Given the description of an element on the screen output the (x, y) to click on. 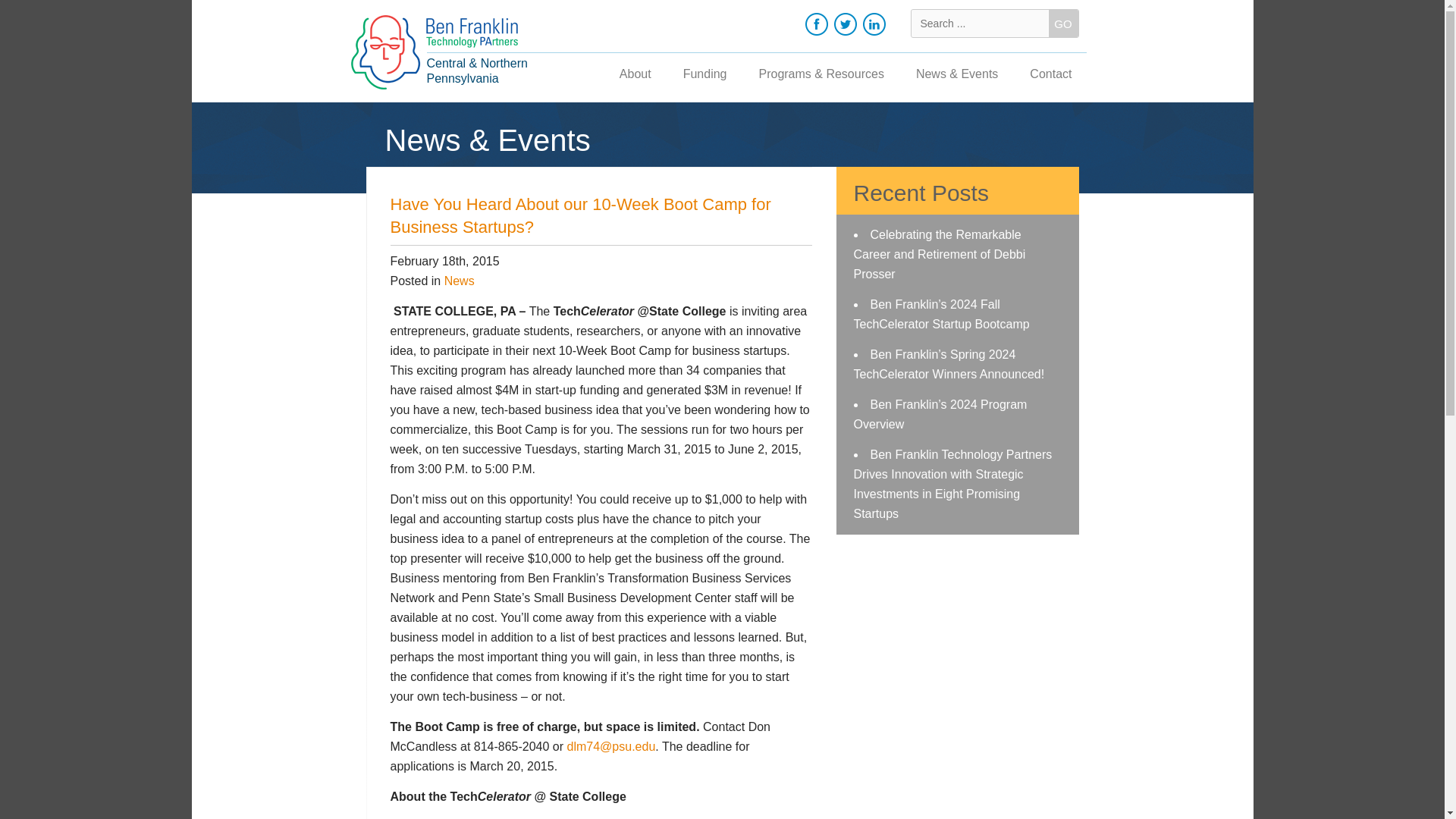
Facebook (816, 24)
About (635, 76)
Twitter (845, 24)
Linkedin (874, 24)
GO (1062, 22)
GO (1062, 22)
Funding (704, 76)
Contact (1050, 76)
GO (1062, 22)
